Given the description of an element on the screen output the (x, y) to click on. 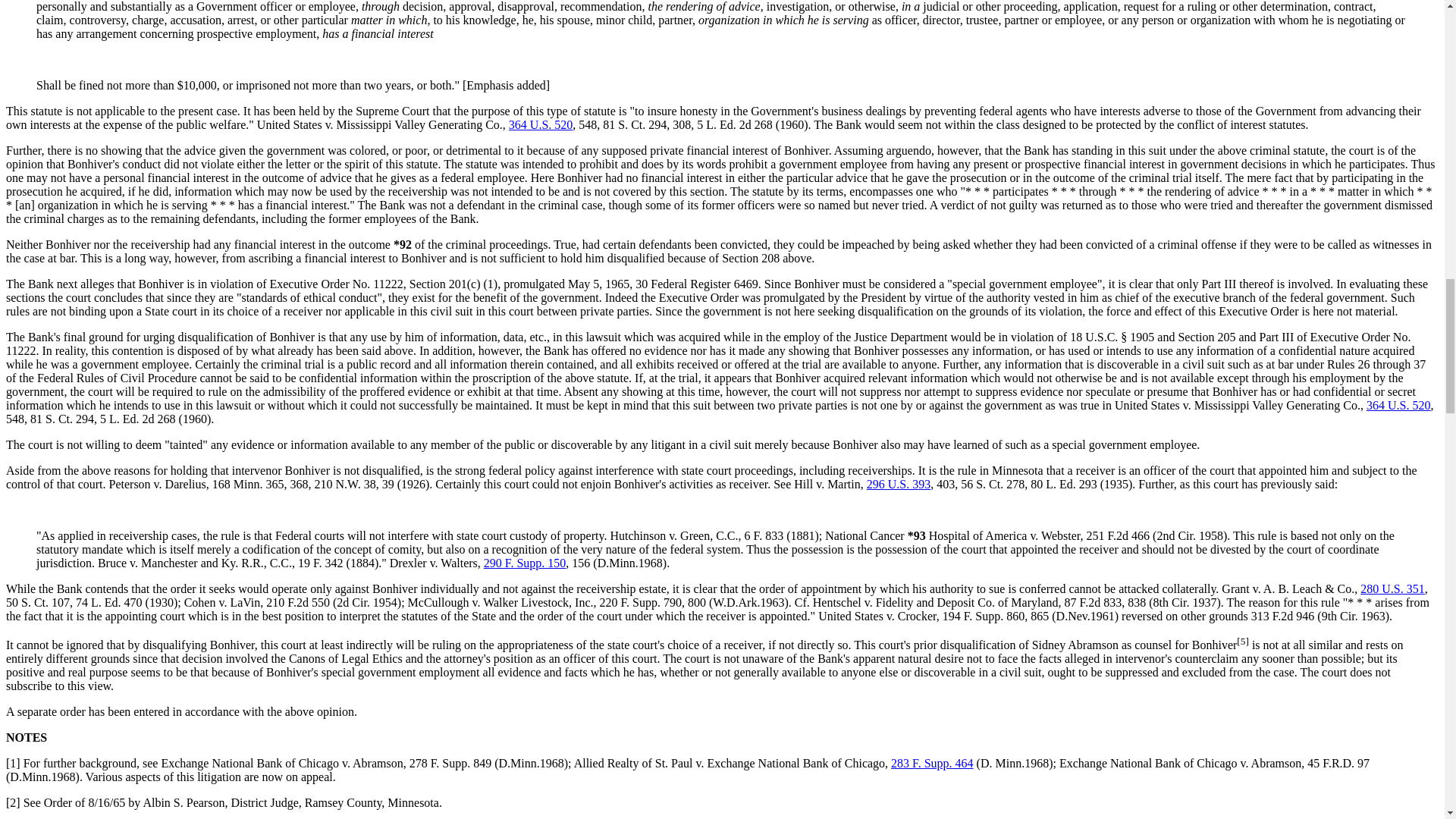
296 U.S. 393 (898, 483)
290 F. Supp. 150 (524, 562)
364 U.S. 520 (1398, 404)
280 U.S. 351 (1391, 588)
283 F. Supp. 464 (932, 762)
364 U.S. 520 (540, 124)
